Given the description of an element on the screen output the (x, y) to click on. 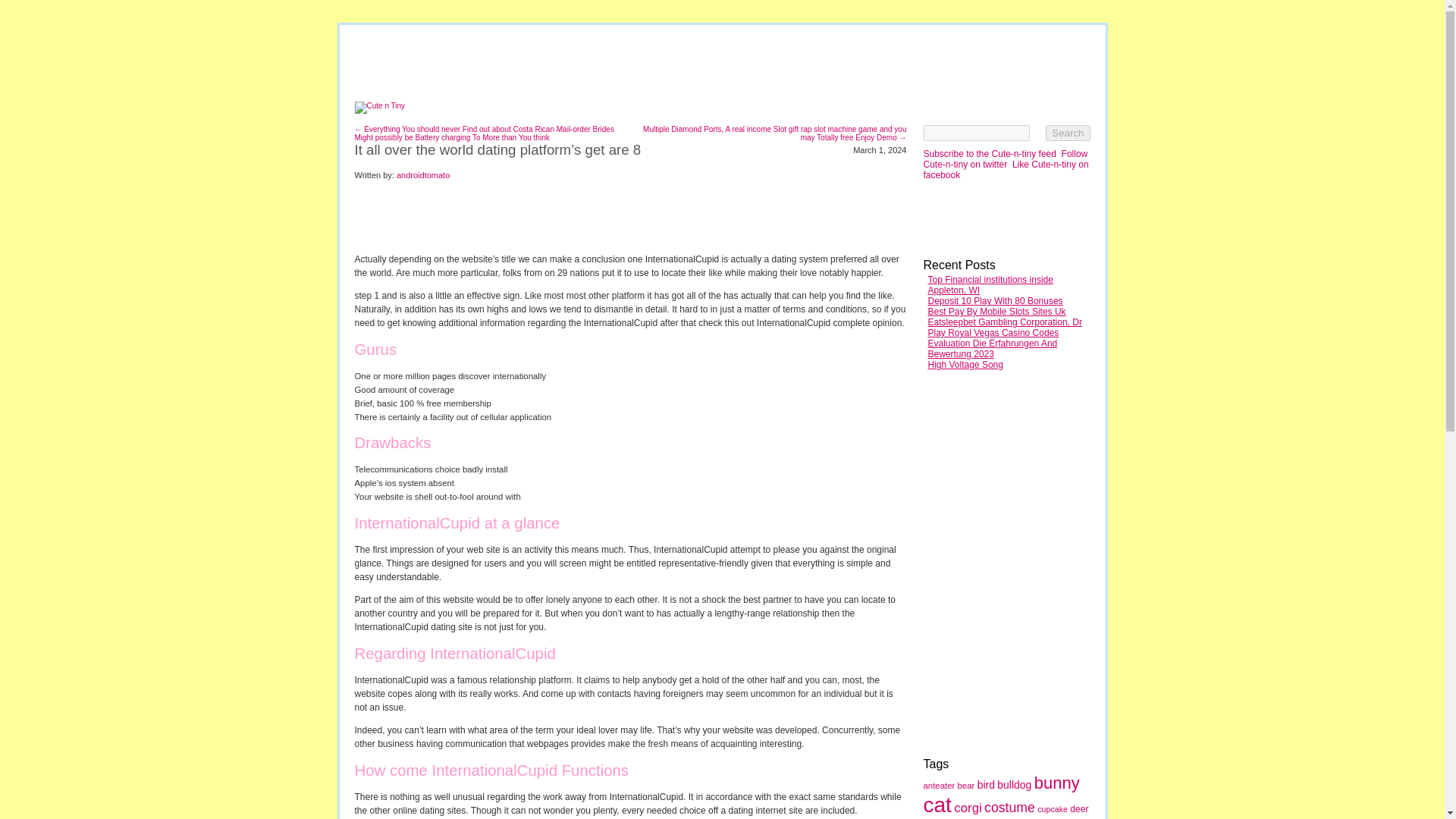
bulldog (1013, 784)
corgi (967, 807)
Deposit 10 Play With 80 Bonuses (995, 300)
androidtomato (422, 174)
Like Cute-n-tiny on facebook (1006, 169)
Search (1067, 132)
cupcake (1051, 809)
deer (1078, 808)
bird (985, 784)
High Voltage Song (965, 364)
costume (1009, 807)
Top Financial institutions inside Appleton, WI (990, 284)
Posts by androidtomato (422, 174)
cat (937, 804)
Follow Cute-n-tiny on twitter (1005, 158)
